Given the description of an element on the screen output the (x, y) to click on. 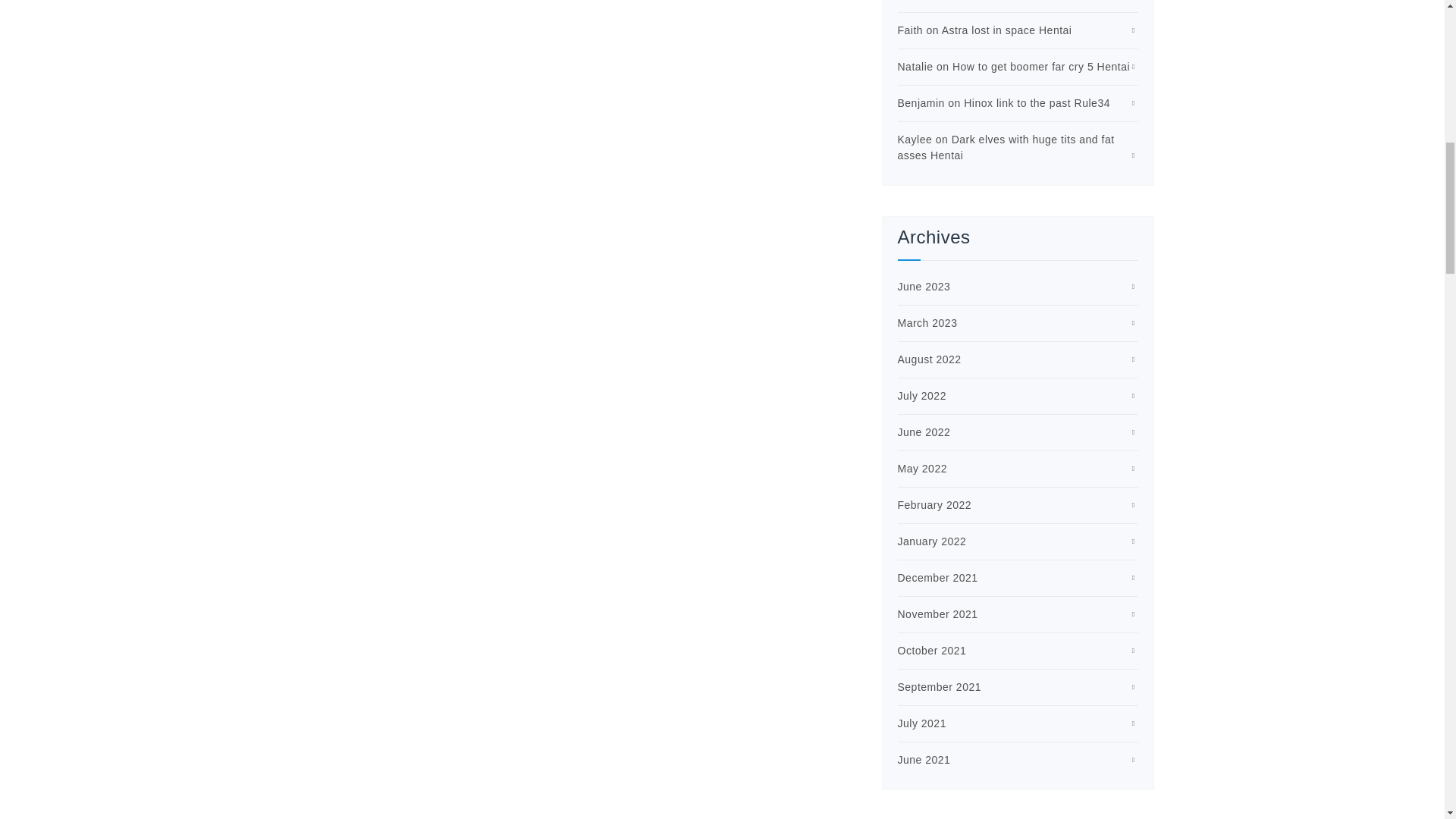
February 2022 (935, 504)
July 2022 (922, 395)
June 2023 (924, 286)
How to get boomer far cry 5 Hentai (1040, 66)
September 2021 (939, 686)
Hinox link to the past Rule34 (1036, 102)
October 2021 (932, 650)
November 2021 (938, 613)
Dark elves with huge tits and fat asses Hentai (1006, 147)
December 2021 (938, 577)
